Given the description of an element on the screen output the (x, y) to click on. 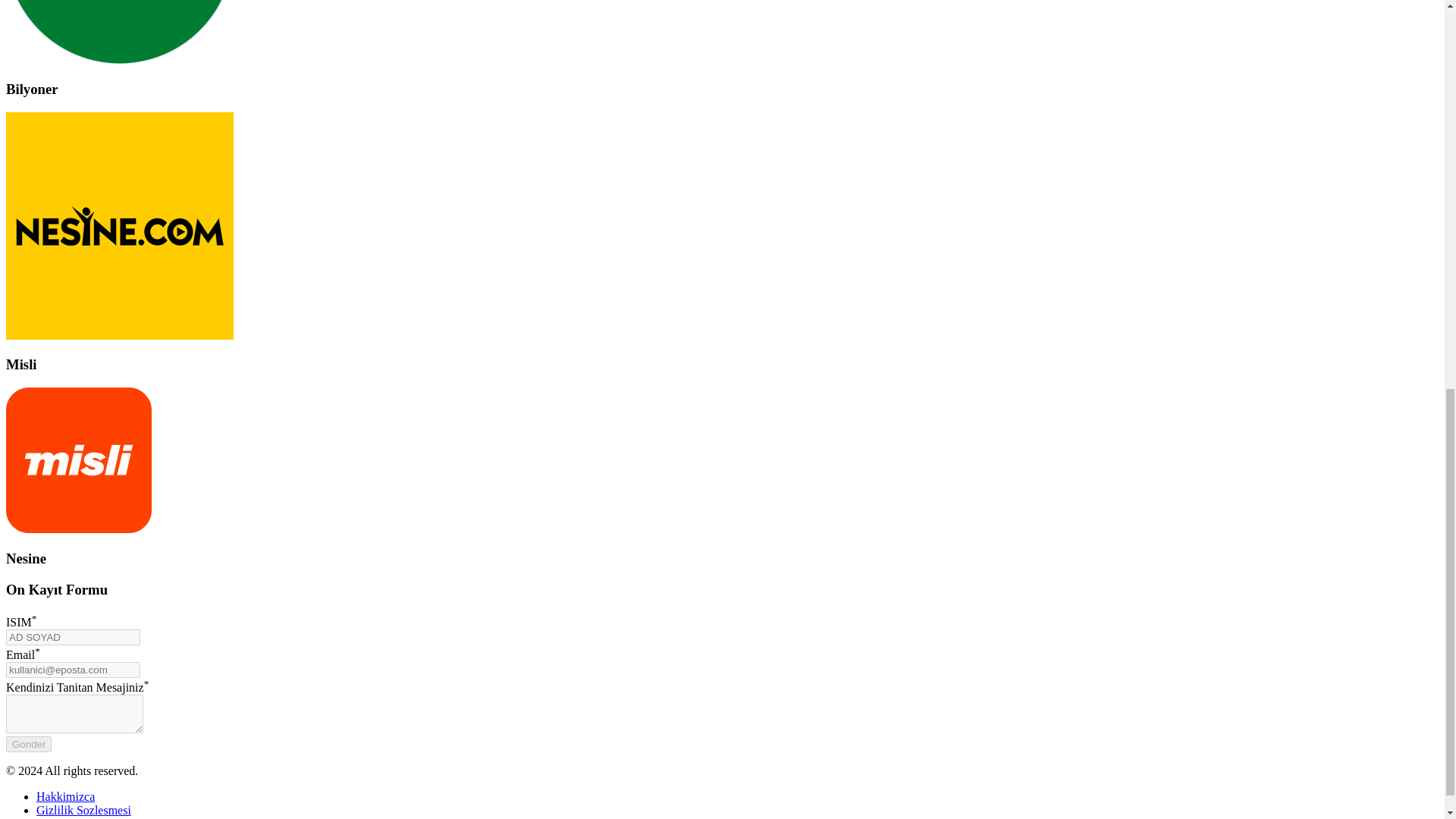
Hakkimizca (65, 796)
Gonder (27, 744)
Gizlilik Sozlesmesi (83, 809)
